Given the description of an element on the screen output the (x, y) to click on. 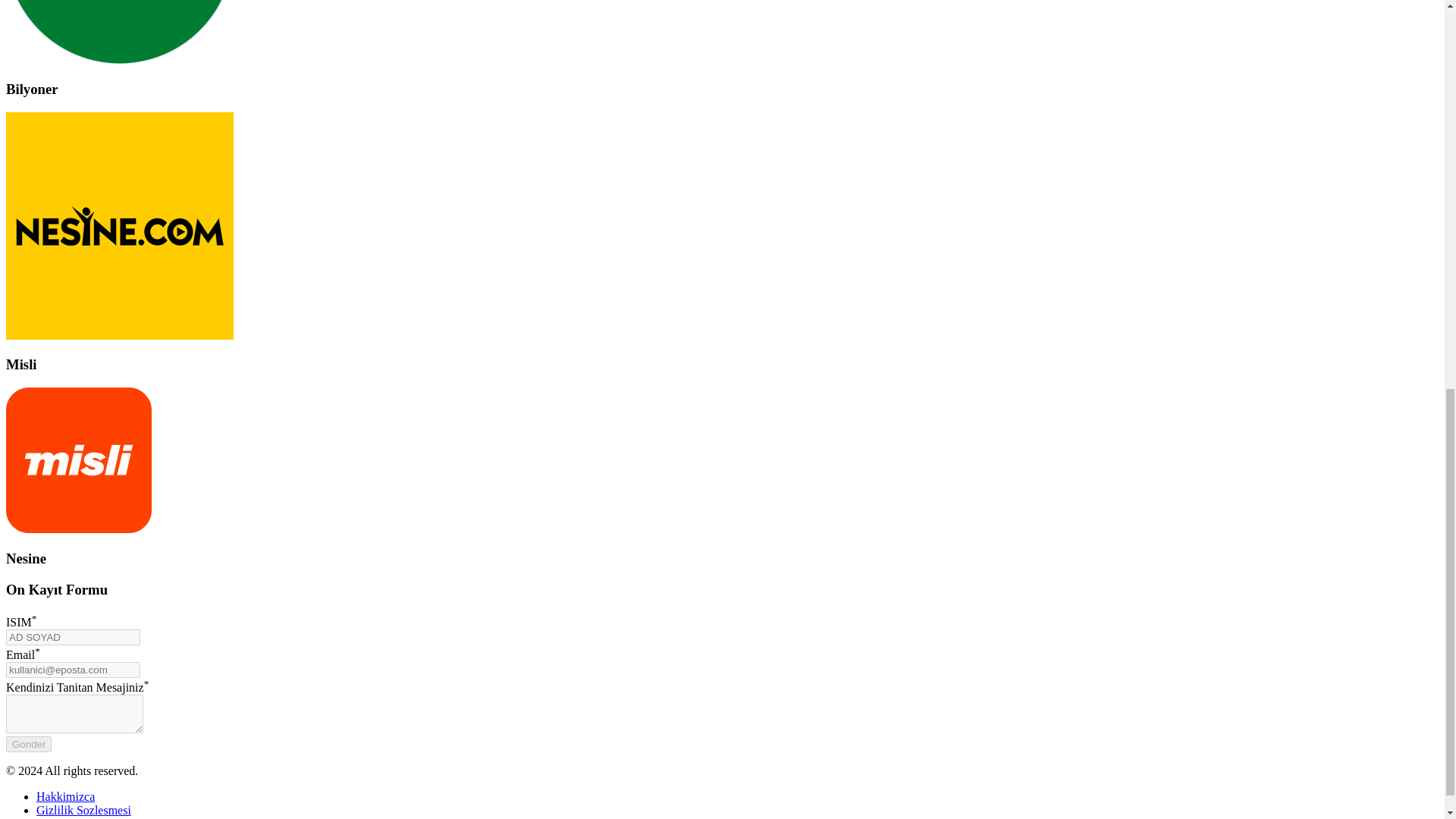
Hakkimizca (65, 796)
Gonder (27, 744)
Gizlilik Sozlesmesi (83, 809)
